Given the description of an element on the screen output the (x, y) to click on. 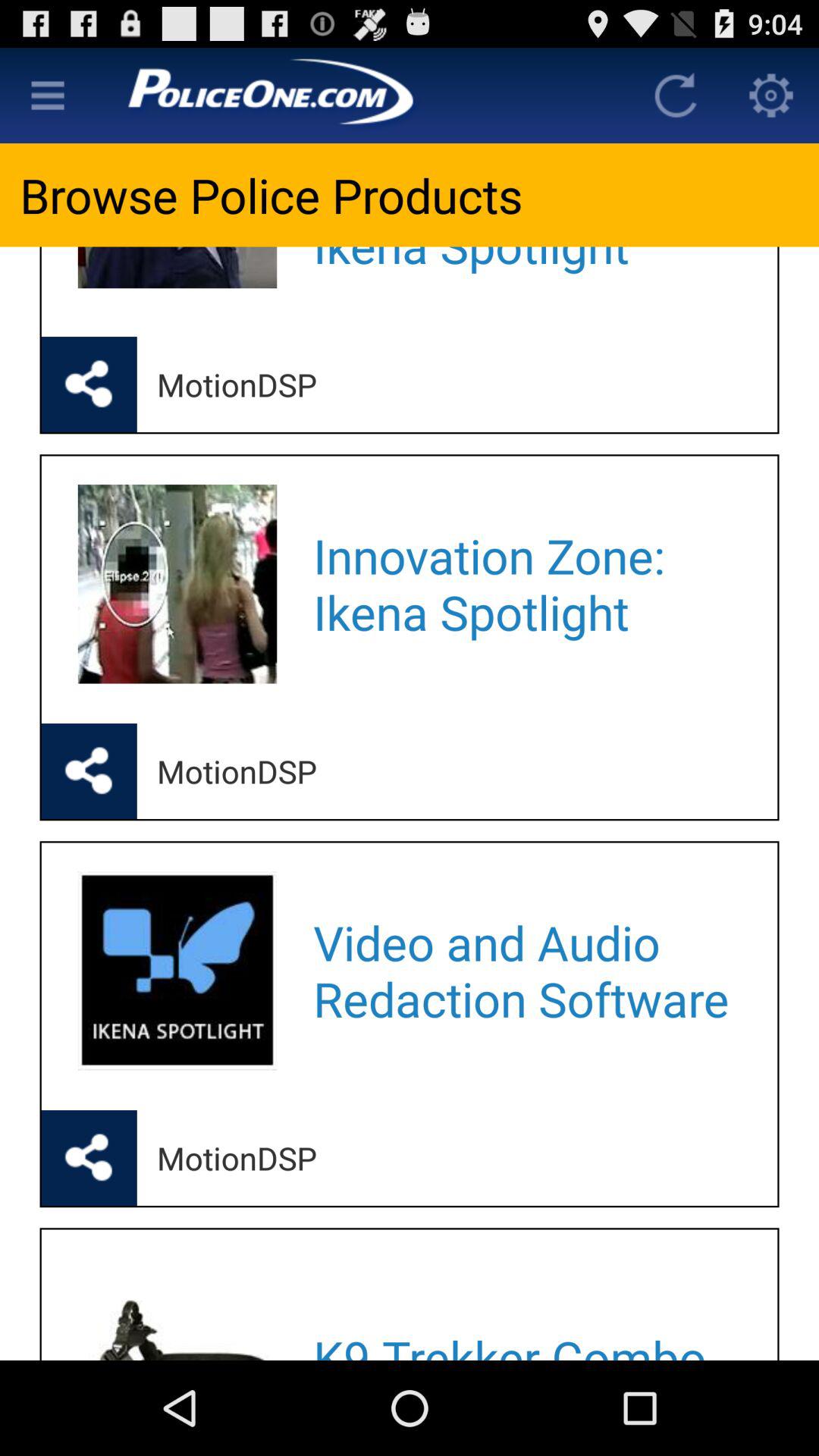
swipe to attend an online (525, 271)
